Given the description of an element on the screen output the (x, y) to click on. 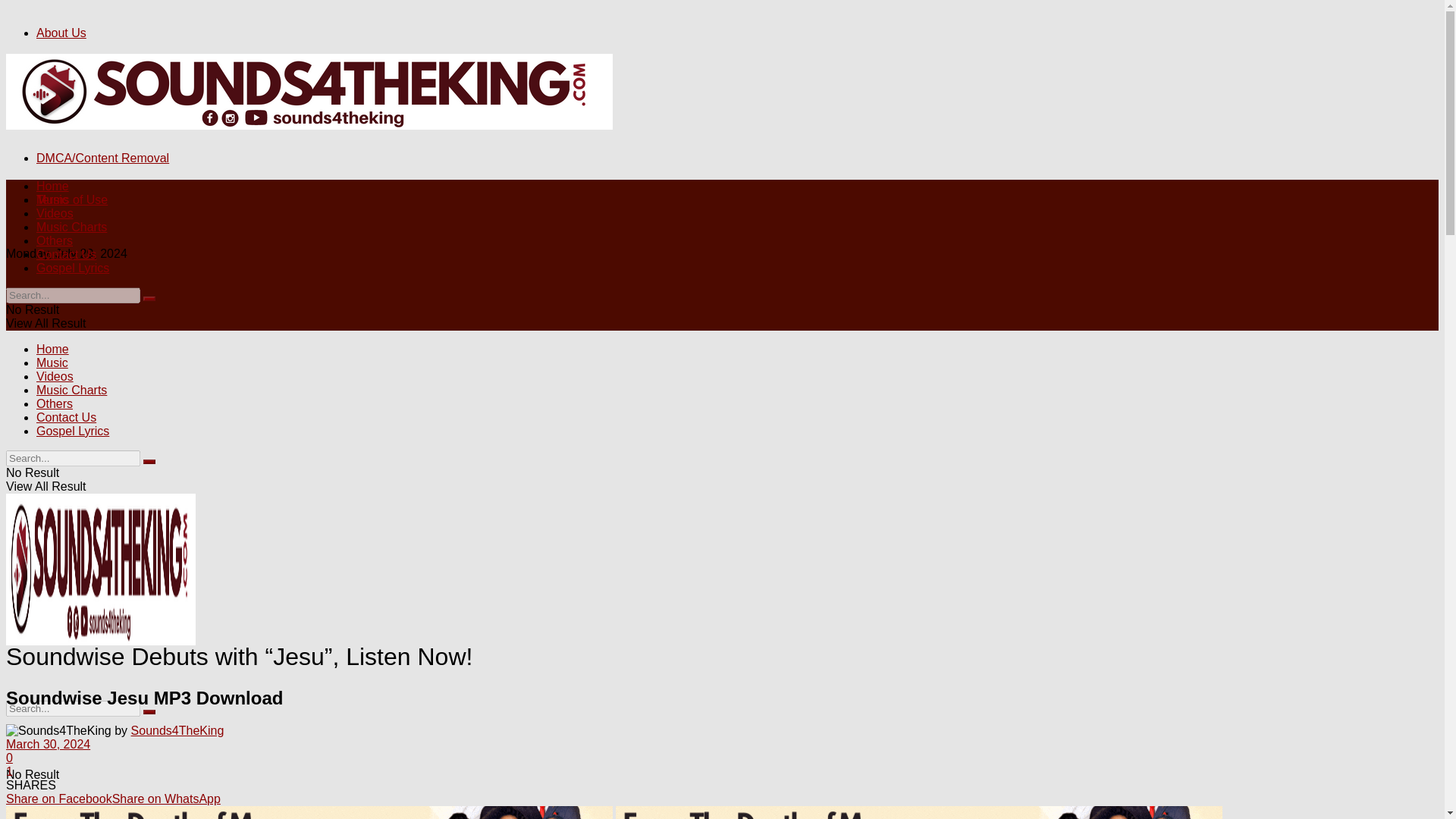
Music Charts (71, 390)
Gospel Lyrics (72, 267)
Contact Us (66, 254)
Others (54, 240)
Music Charts (71, 226)
Music (52, 362)
Home (52, 349)
About Us (60, 32)
Videos (55, 213)
Music (52, 199)
Privacy Policy (74, 115)
Contact Us (66, 74)
Home (52, 185)
Videos (55, 376)
Terms of Use (71, 199)
